Given the description of an element on the screen output the (x, y) to click on. 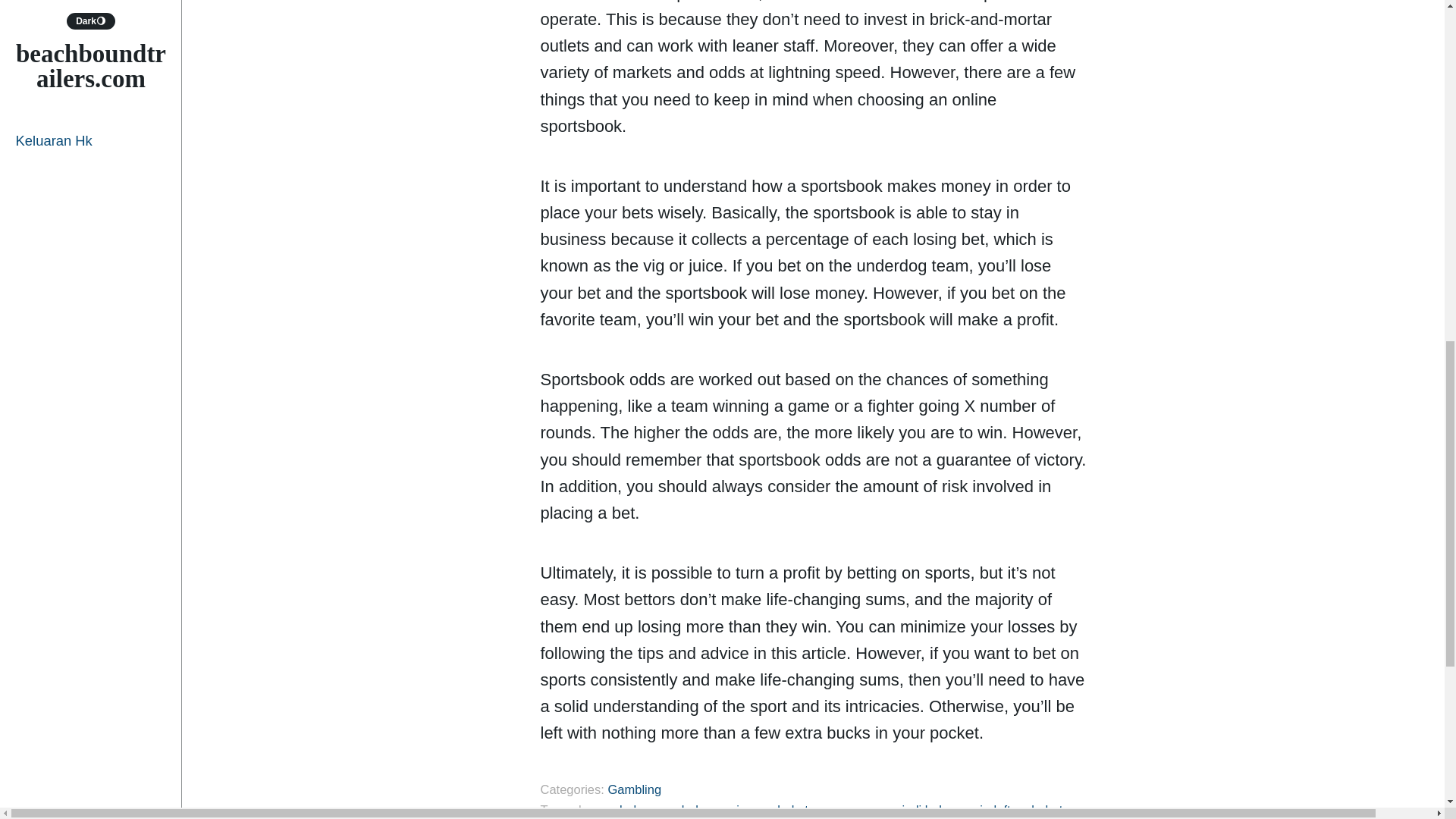
daftar sbobet (1026, 809)
agen judi bola resmi (926, 809)
agen bola (615, 809)
Gambling (634, 789)
agen bola resmi (693, 809)
agen bola terpercaya (804, 809)
